Given the description of an element on the screen output the (x, y) to click on. 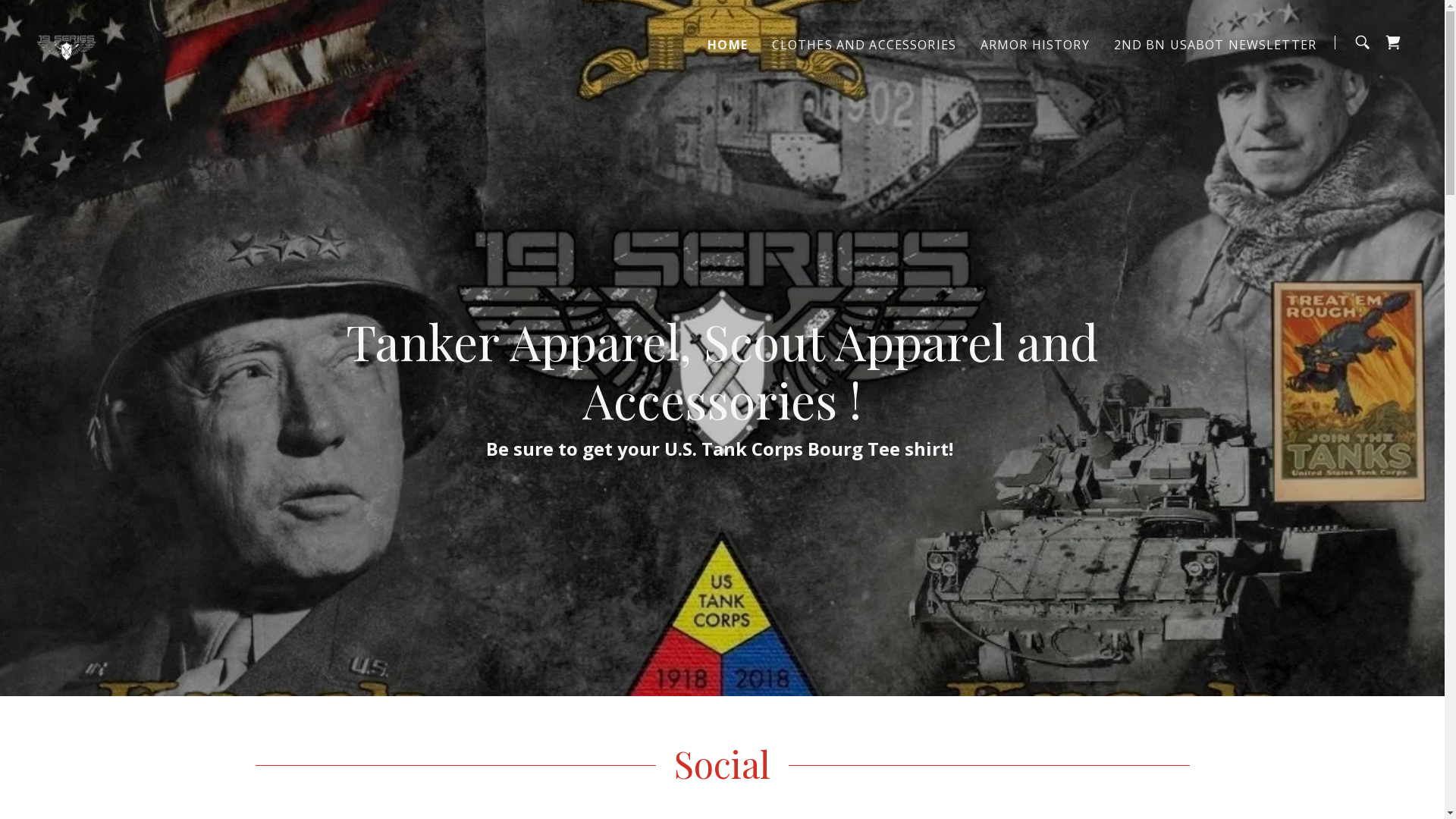
HOME Element type: text (727, 43)
19 Series Element type: hover (66, 40)
ARMOR HISTORY Element type: text (1034, 43)
2ND BN USABOT NEWSLETTER Element type: text (1215, 43)
CLOTHES AND ACCESSORIES Element type: text (863, 43)
